Given the description of an element on the screen output the (x, y) to click on. 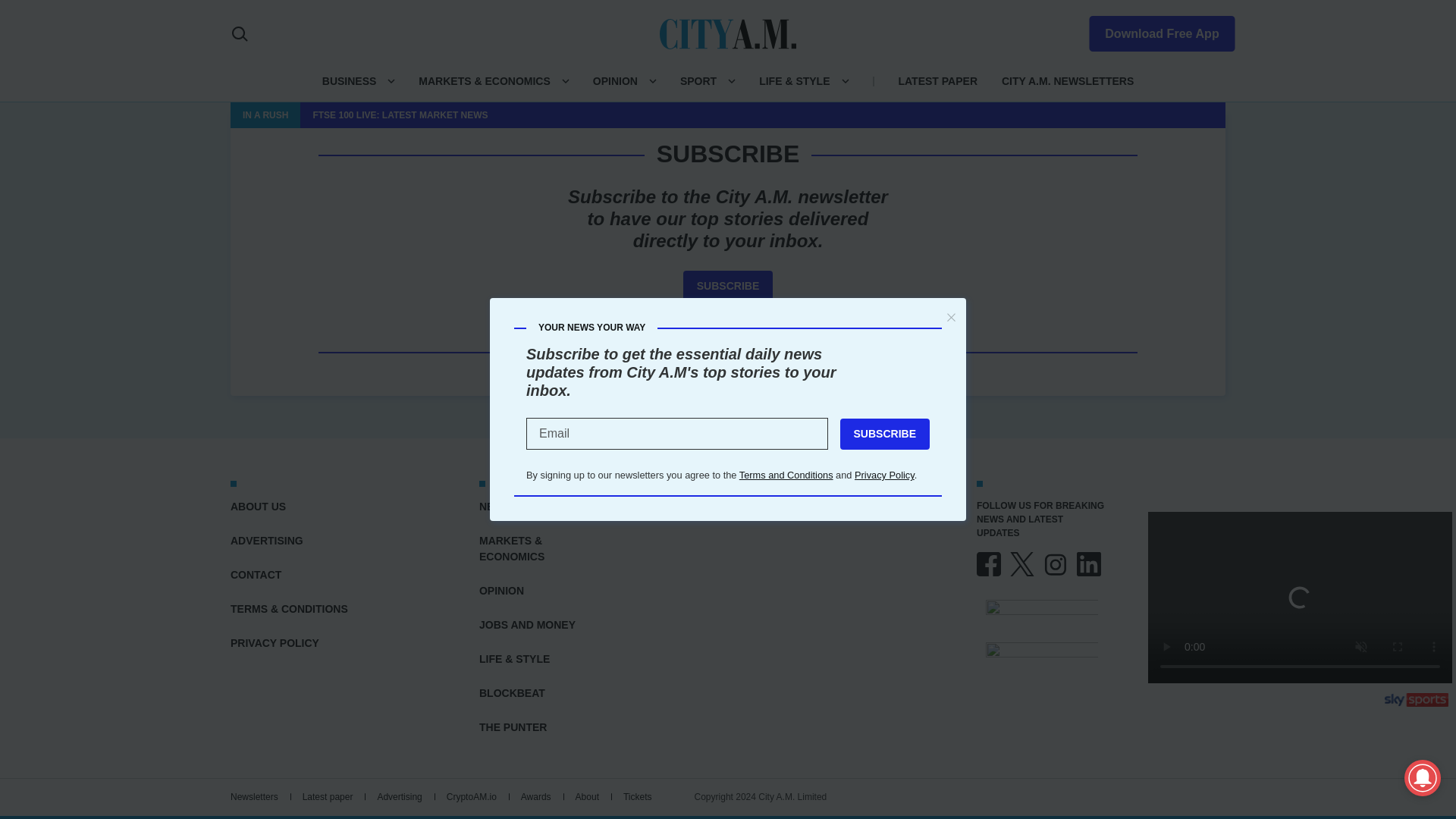
INSTAGRAM (1055, 564)
X (1021, 564)
LINKEDIN (1088, 564)
FACEBOOK (988, 564)
